Given the description of an element on the screen output the (x, y) to click on. 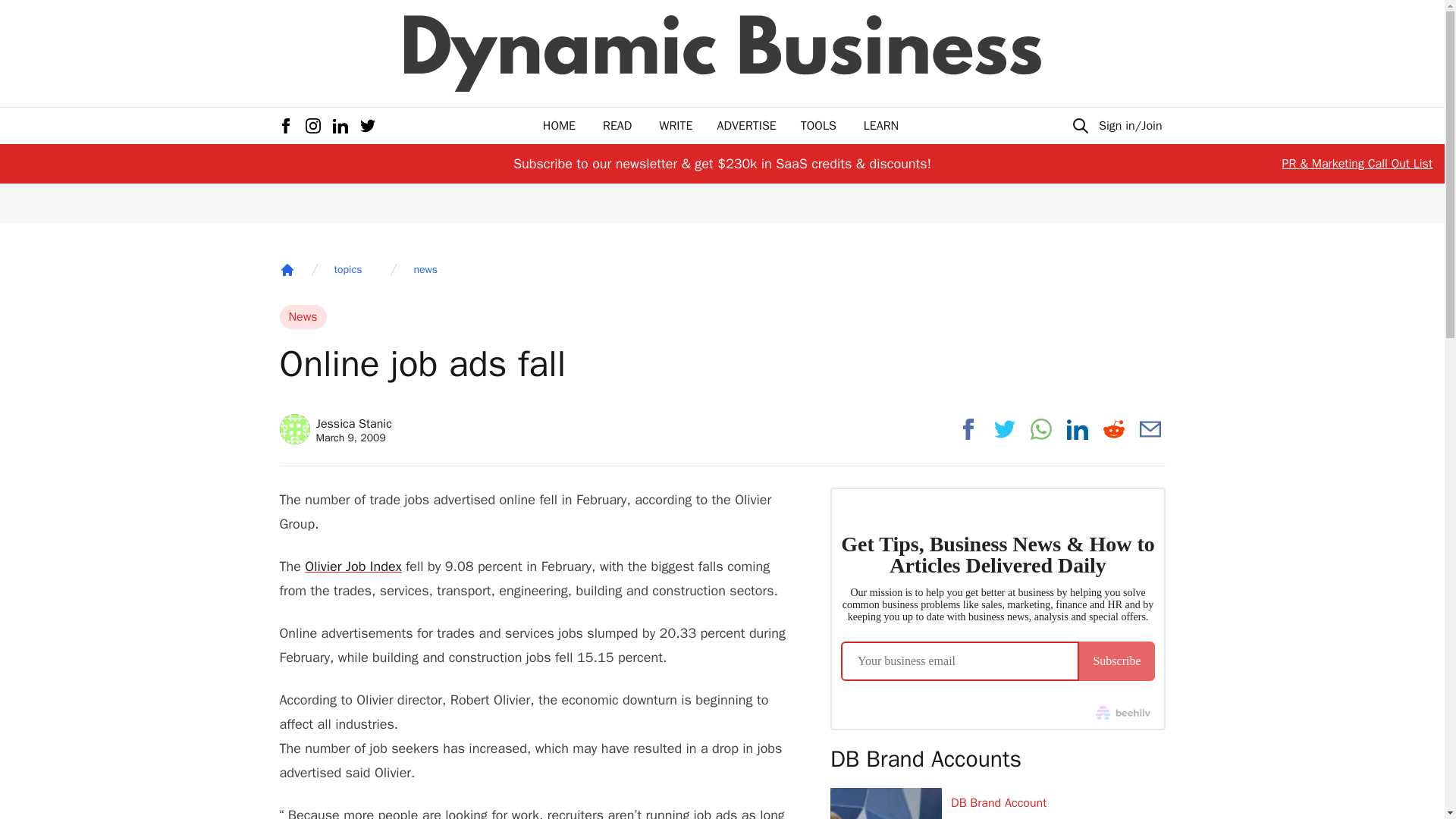
Home (286, 269)
News (302, 316)
Olivier Job Index (352, 565)
TOOLS (817, 126)
ADVERTISE (746, 126)
WRITE (676, 126)
READ (616, 126)
LEARN (880, 126)
news (425, 269)
HOME (559, 126)
